Given the description of an element on the screen output the (x, y) to click on. 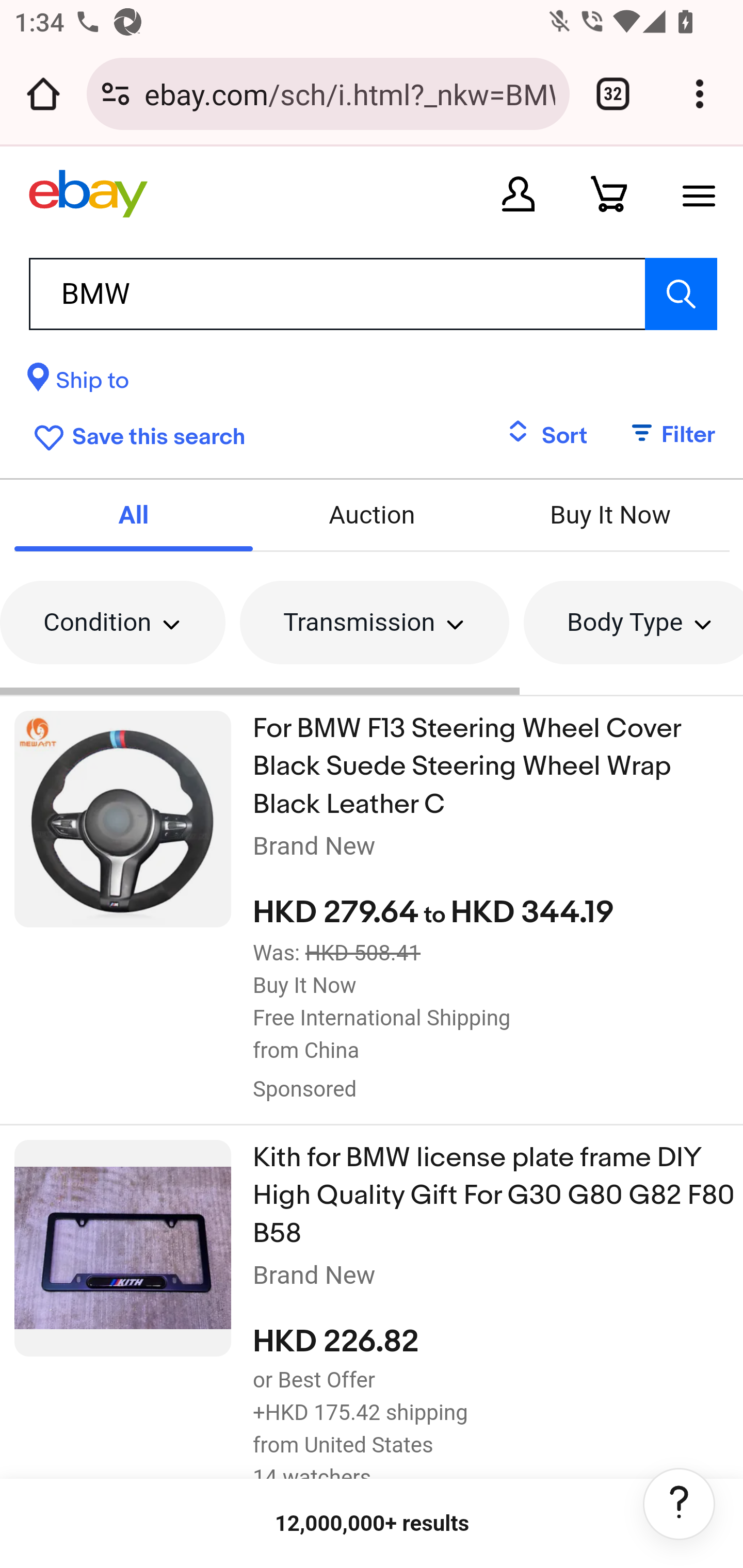
Open the home page (43, 93)
Connection is secure (115, 93)
Switch or close tabs (612, 93)
Customize and control Google Chrome (699, 93)
ebay.com/sch/i.html?_nkw=BMW&_trksid=m5467.l1311 (349, 92)
Open Menu (698, 193)
My eBay (518, 193)
Your shopping cart is empty (609, 193)
eBay Home (87, 193)
BMW (372, 292)
Search (680, 292)
Ship to  (77, 382)
Sort (546, 434)
Filter (662, 434)
Save this search BMW search (135, 433)
All selected (133, 515)
Auction (371, 515)
Buy It Now (611, 515)
Condition (112, 621)
Transmission (373, 621)
Body Type (632, 621)
Help (678, 1503)
